Given the description of an element on the screen output the (x, y) to click on. 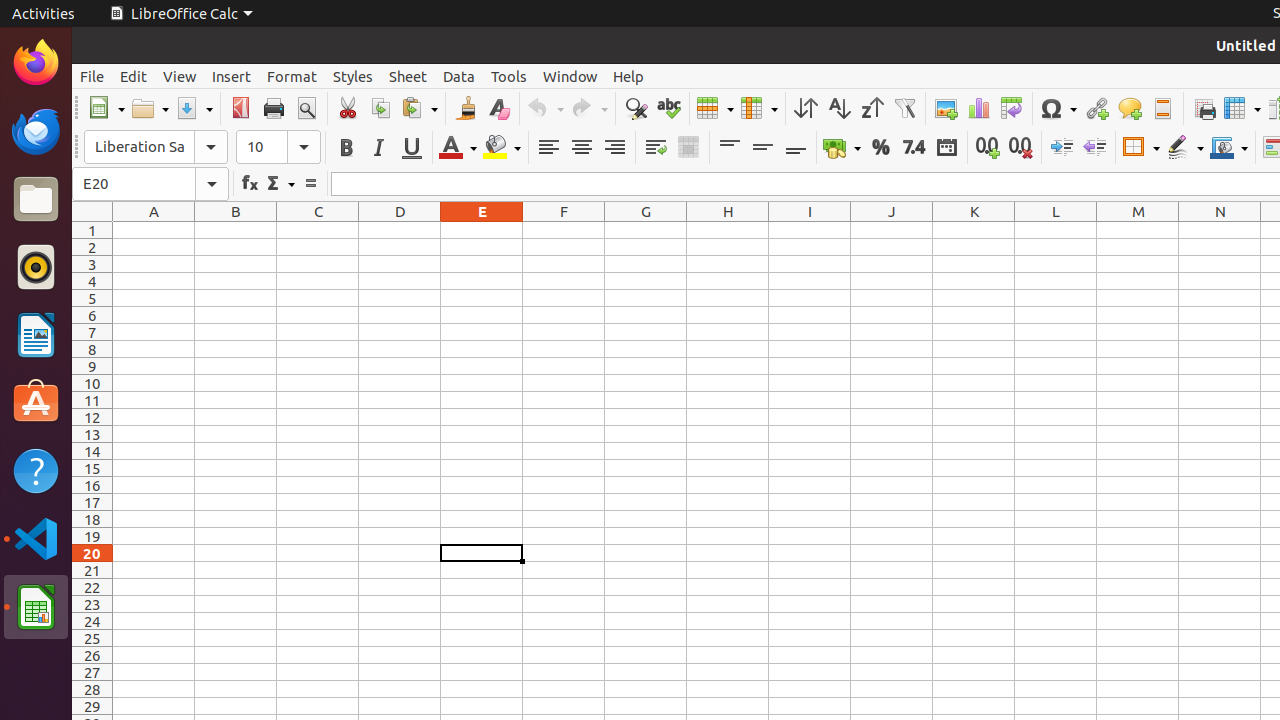
Name Box Element type: combo-box (150, 184)
I1 Element type: table-cell (810, 230)
J1 Element type: table-cell (892, 230)
A1 Element type: table-cell (154, 230)
Ubuntu Software Element type: push-button (36, 402)
